Given the description of an element on the screen output the (x, y) to click on. 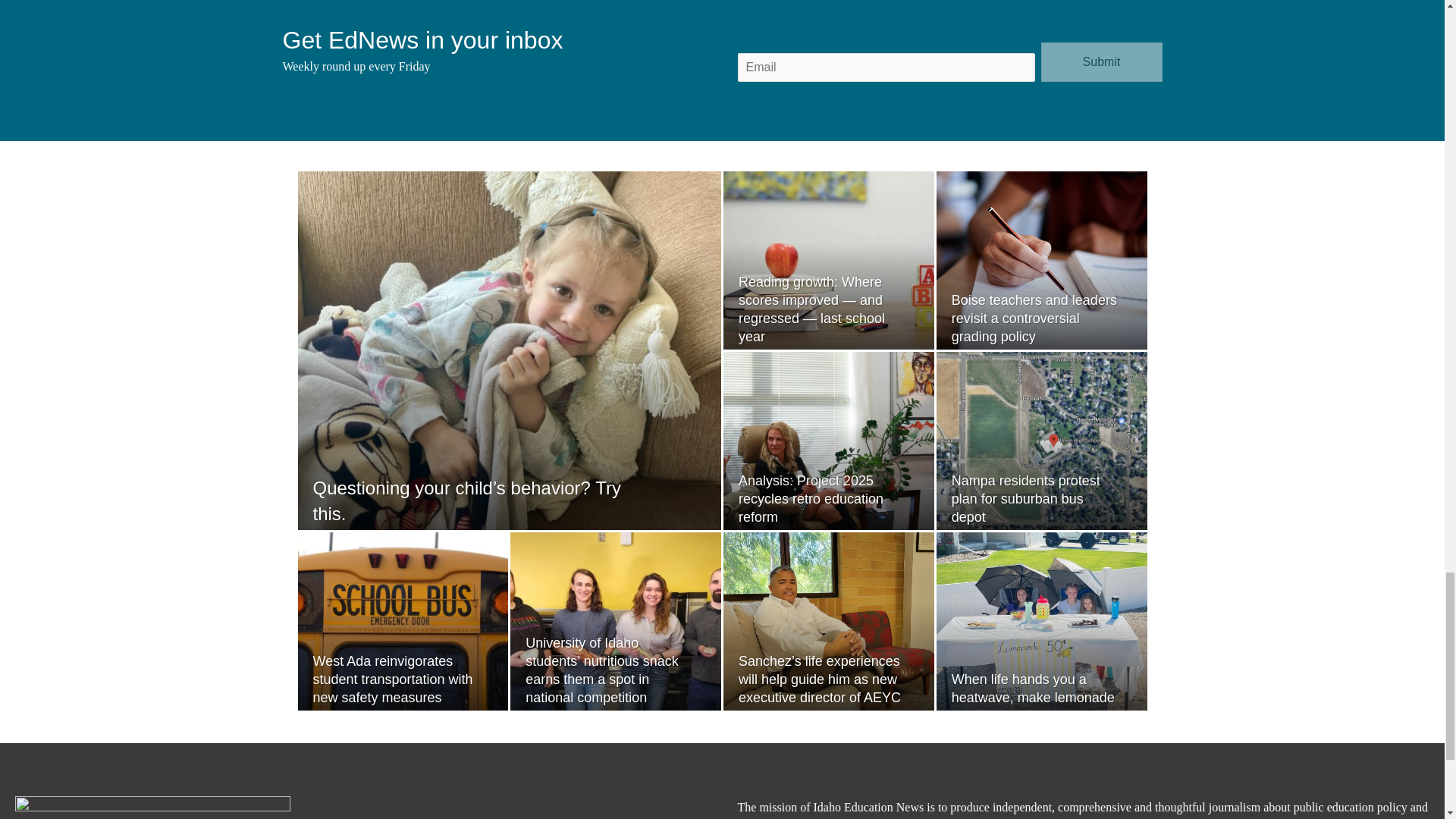
Analysis: Project 2025 recycles retro education reform (810, 498)
Nampa residents protest plan for suburban bus depot (1026, 498)
Submit (1101, 61)
